Given the description of an element on the screen output the (x, y) to click on. 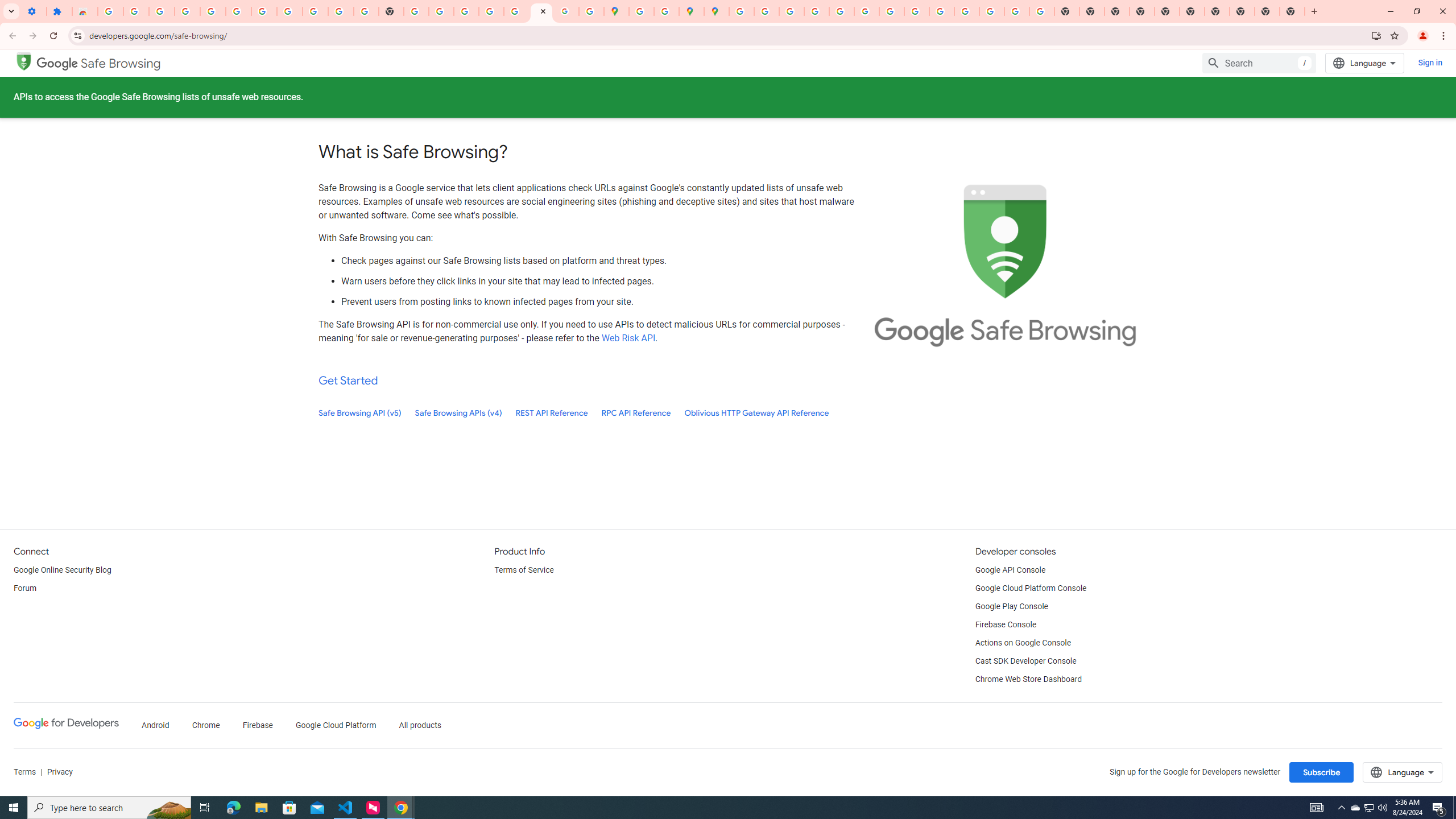
YouTube (340, 11)
Learn how to find your photos - Google Photos Help (213, 11)
RPC API Reference (635, 412)
Sign in - Google Accounts (740, 11)
Oblivious HTTP Gateway API Reference (756, 412)
Google Images (1042, 11)
YouTube (891, 11)
